Given the description of an element on the screen output the (x, y) to click on. 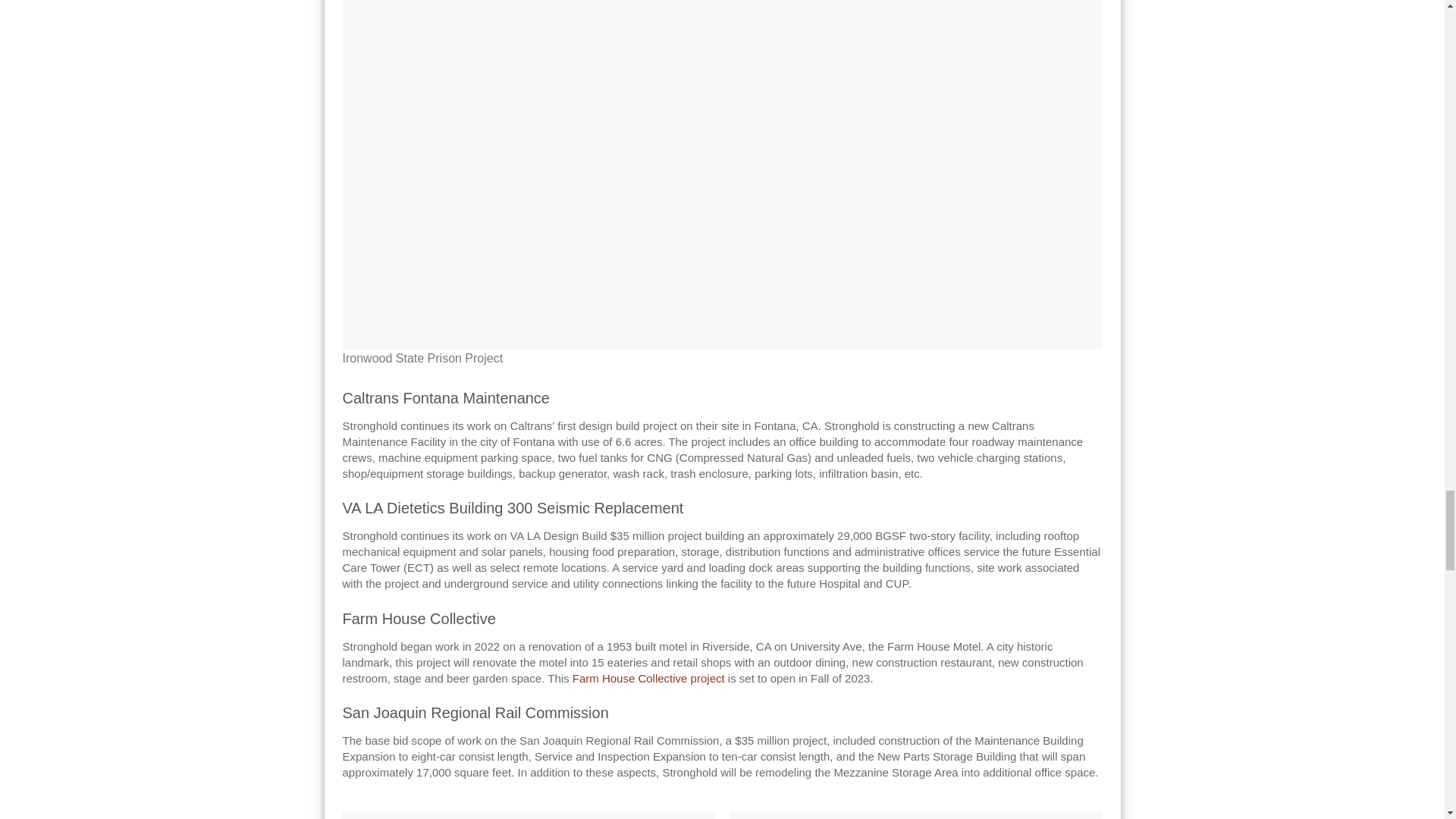
Farm House Collective project (648, 677)
